Given the description of an element on the screen output the (x, y) to click on. 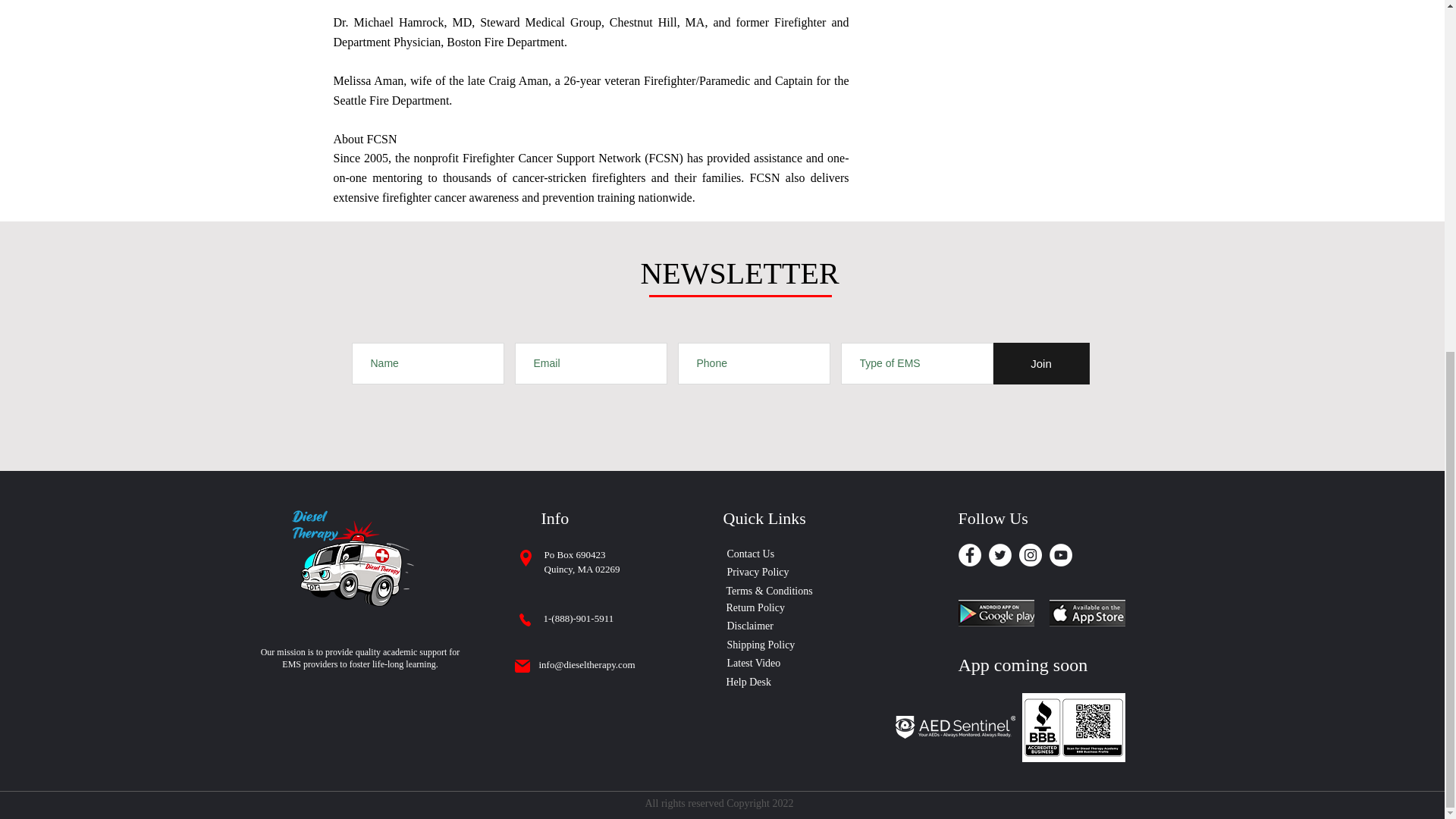
Privacy Policy (774, 571)
Return Policy (774, 606)
Latest Video (759, 662)
Help Desk (752, 681)
Join (1040, 363)
Contact Us (774, 553)
Shipping Policy (766, 644)
Disclaimer (754, 625)
